Given the description of an element on the screen output the (x, y) to click on. 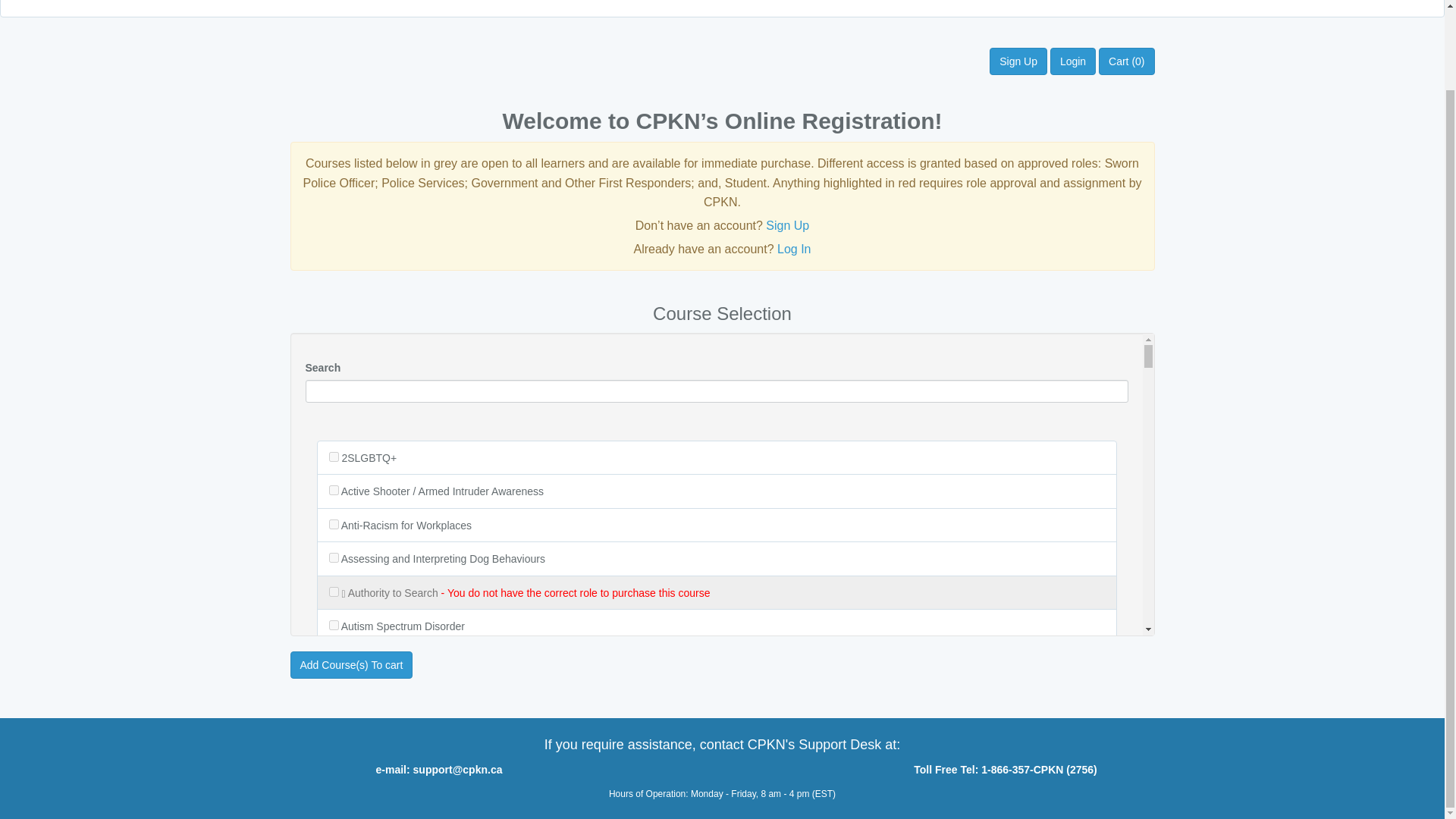
150 (334, 793)
Sign Up (787, 225)
138 (334, 624)
Log In (793, 248)
143 (334, 658)
151 (334, 726)
108 (334, 759)
176 (334, 692)
180 (334, 490)
Login (1072, 61)
Sign Up (1018, 61)
234 (334, 592)
208 (334, 456)
6 (334, 557)
243 (334, 524)
